Given the description of an element on the screen output the (x, y) to click on. 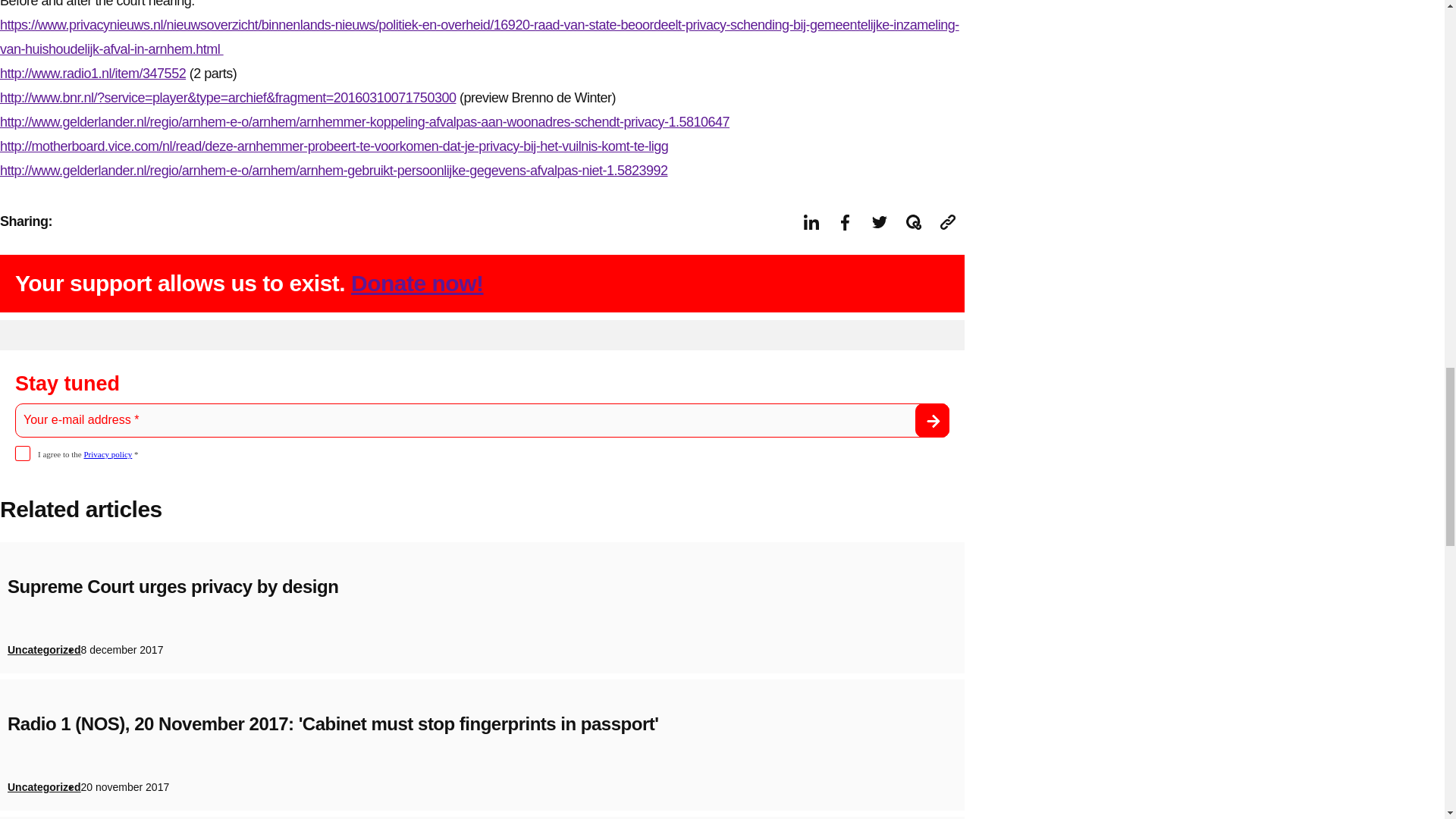
on (22, 453)
